Given the description of an element on the screen output the (x, y) to click on. 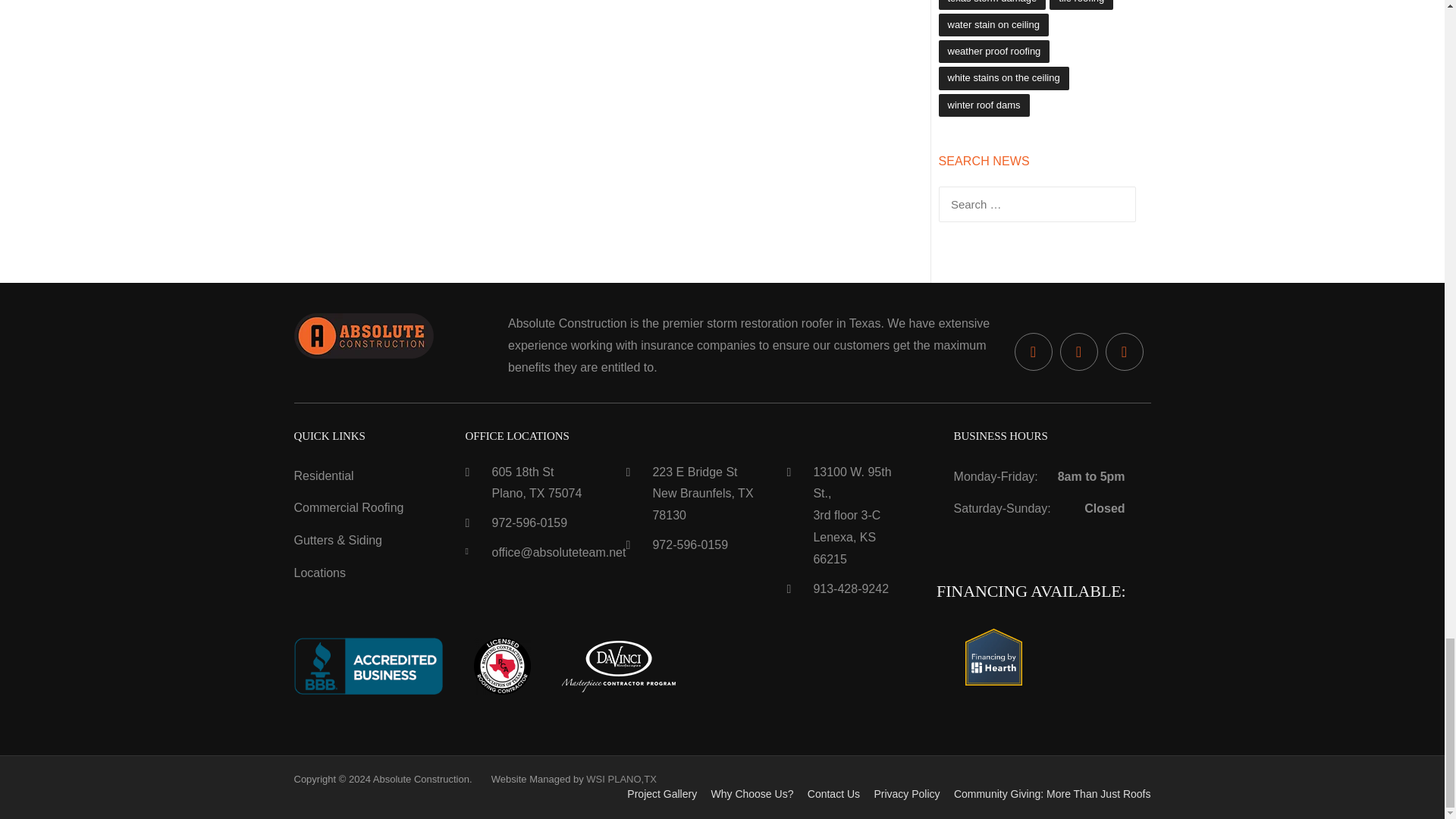
Facebook (1033, 351)
